Given the description of an element on the screen output the (x, y) to click on. 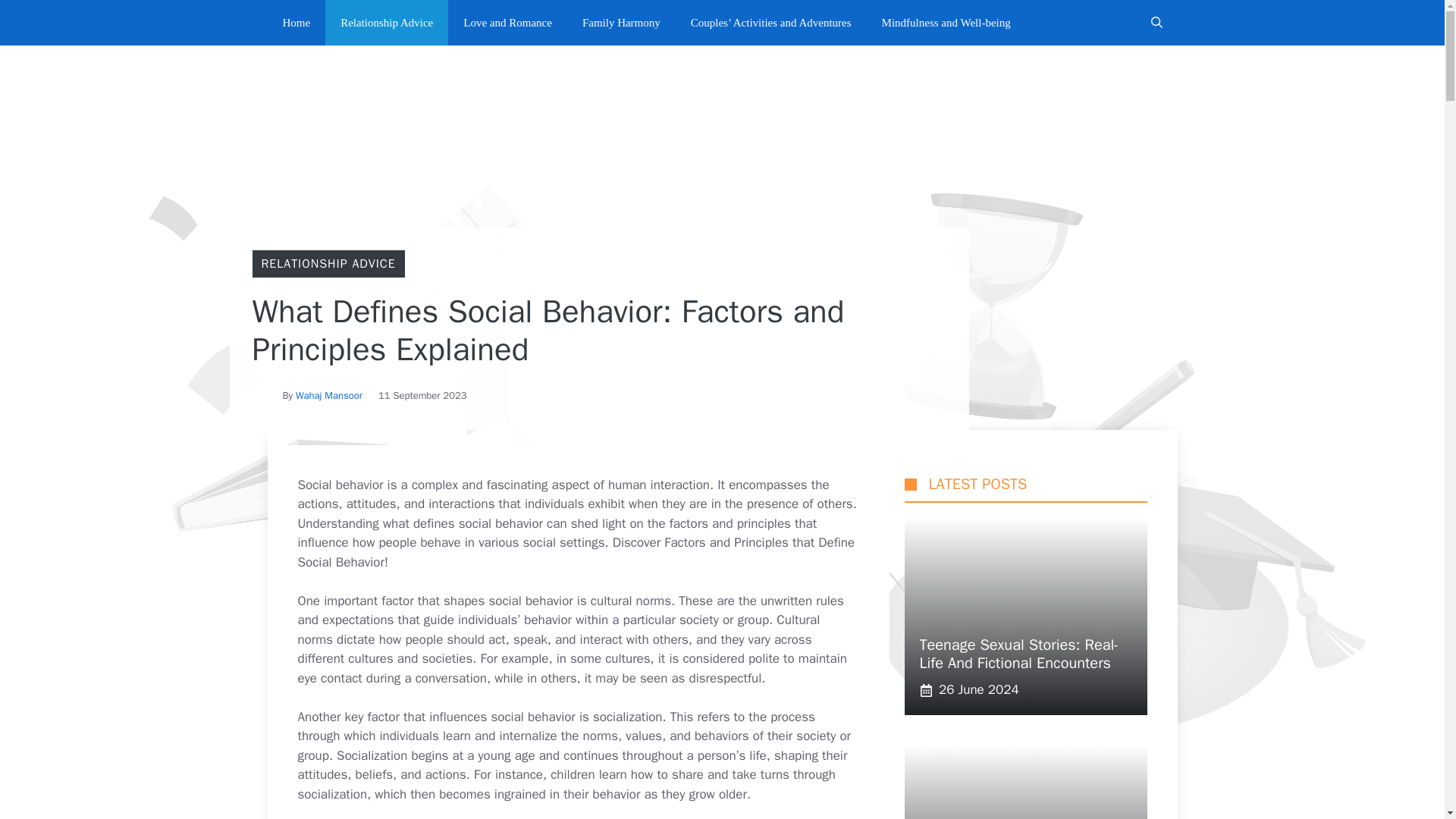
RELATIONSHIP ADVICE (327, 263)
Love and Romance (507, 22)
Relationship Advice (386, 22)
Home (295, 22)
Mindfulness and Well-being (946, 22)
Family Harmony (621, 22)
Wahaj Mansoor (328, 395)
